Given the description of an element on the screen output the (x, y) to click on. 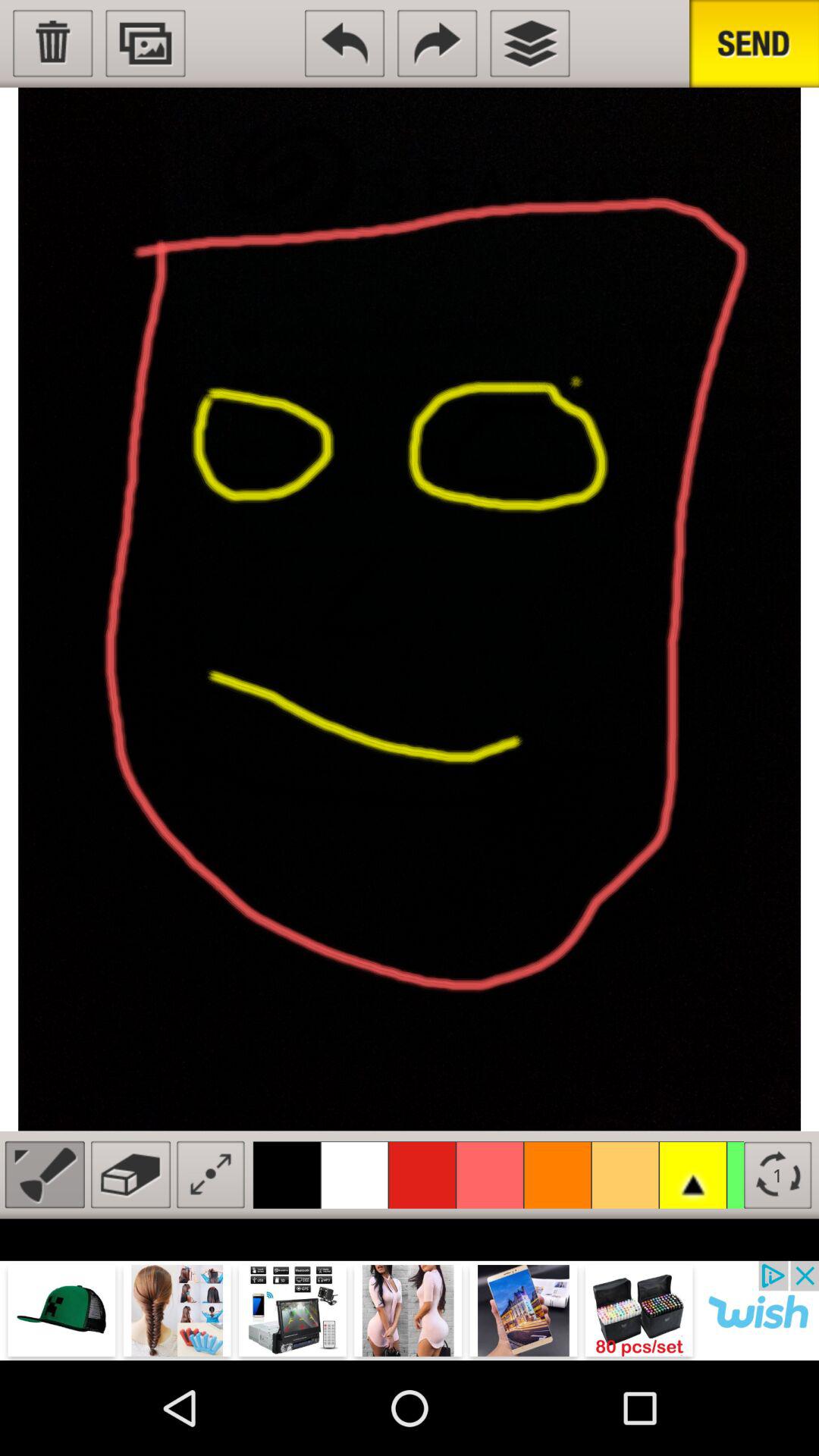
layers (529, 43)
